Given the description of an element on the screen output the (x, y) to click on. 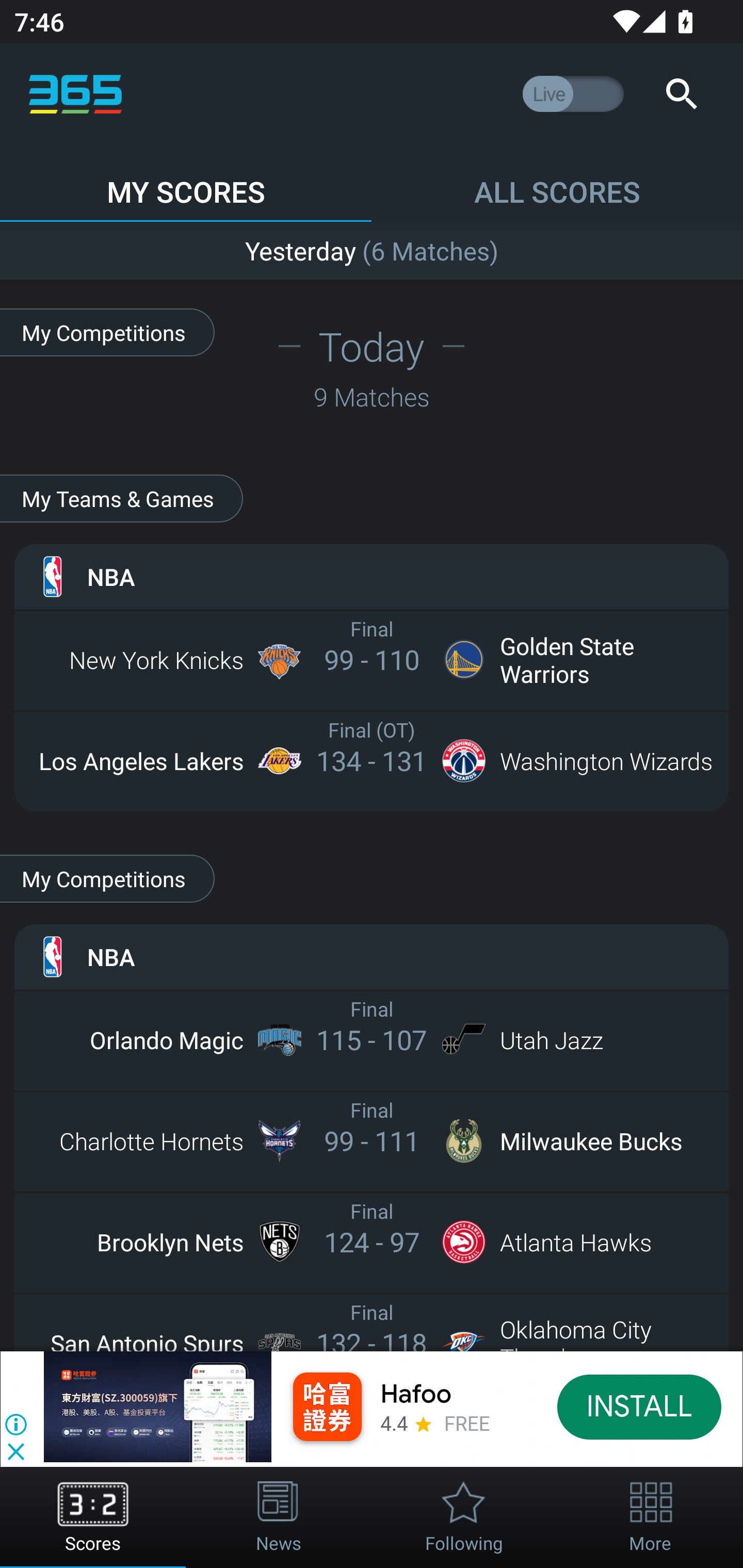
Search (681, 93)
MY SCORES (185, 182)
ALL SCORES (557, 182)
Denver Nuggets 117 - 96 Sacramento Kings (371, 246)
NBA (371, 576)
NBA (371, 956)
Orlando Magic Final 115 - 107 Utah Jazz (371, 1039)
Charlotte Hornets Final 99 - 111 Milwaukee Bucks (371, 1140)
Brooklyn Nets Final 124 - 97 Atlanta Hawks (371, 1241)
News (278, 1517)
Following (464, 1517)
More (650, 1517)
